Given the description of an element on the screen output the (x, y) to click on. 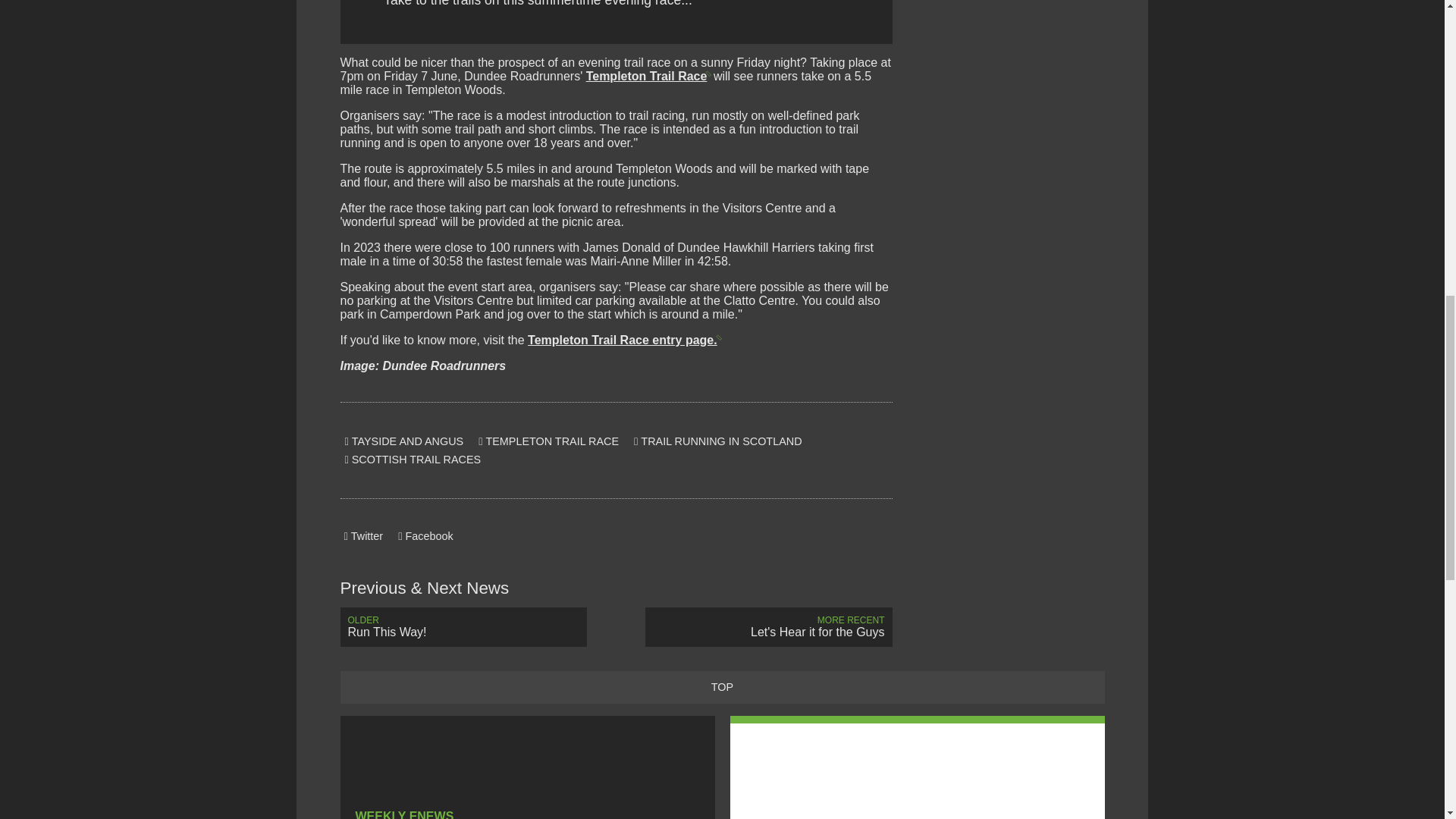
Twitter (363, 536)
Templeton Trail Race entry page. (623, 339)
SCOTTISH TRAIL RACES (412, 459)
Facebook (462, 627)
Templeton Trail Race (425, 536)
TEMPLETON TRAIL RACE (648, 75)
TRAIL RUNNING IN SCOTLAND (548, 441)
TAYSIDE AND ANGUS (717, 441)
